Given the description of an element on the screen output the (x, y) to click on. 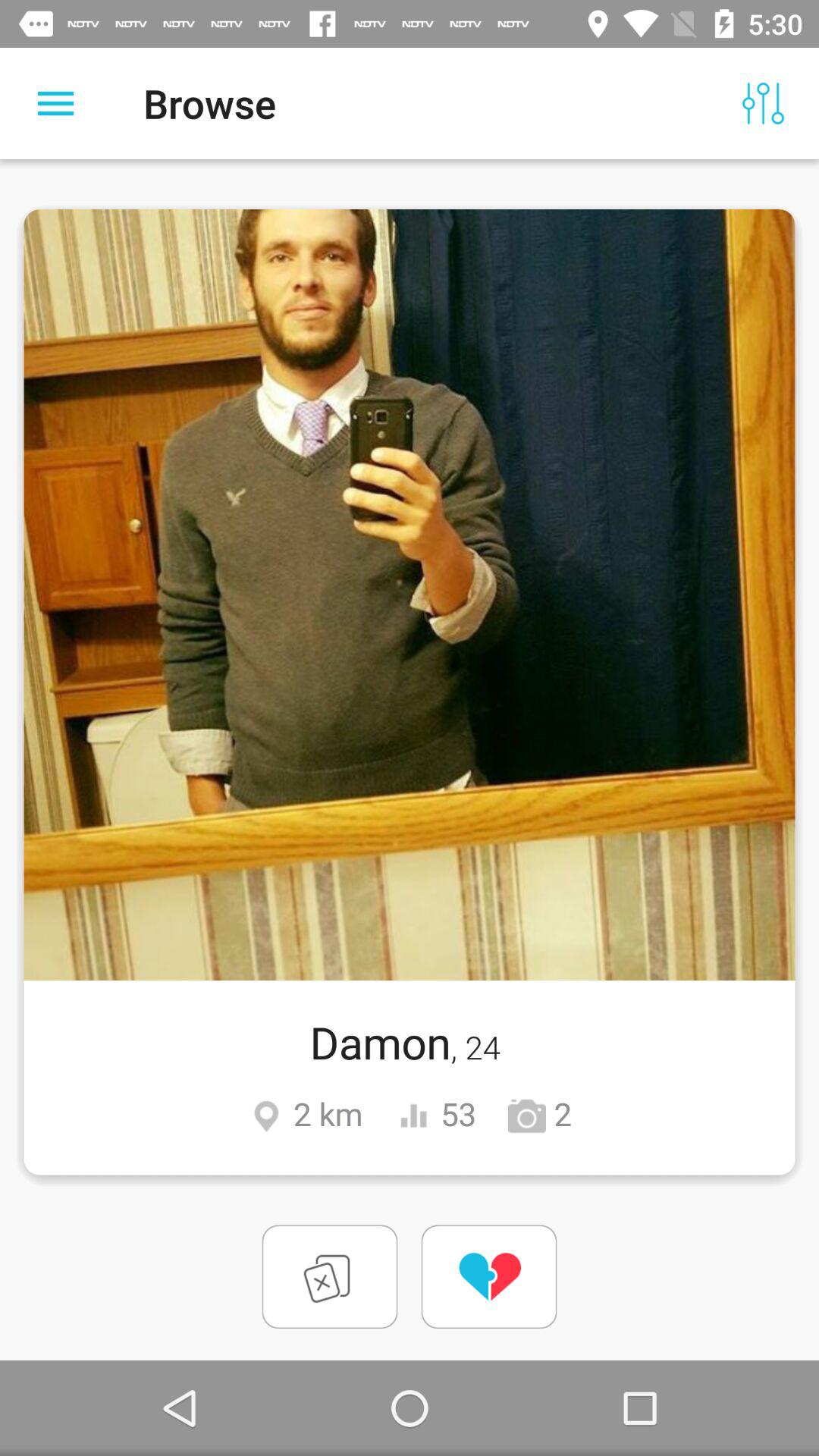
tap the icon next to the browse item (763, 103)
